Given the description of an element on the screen output the (x, y) to click on. 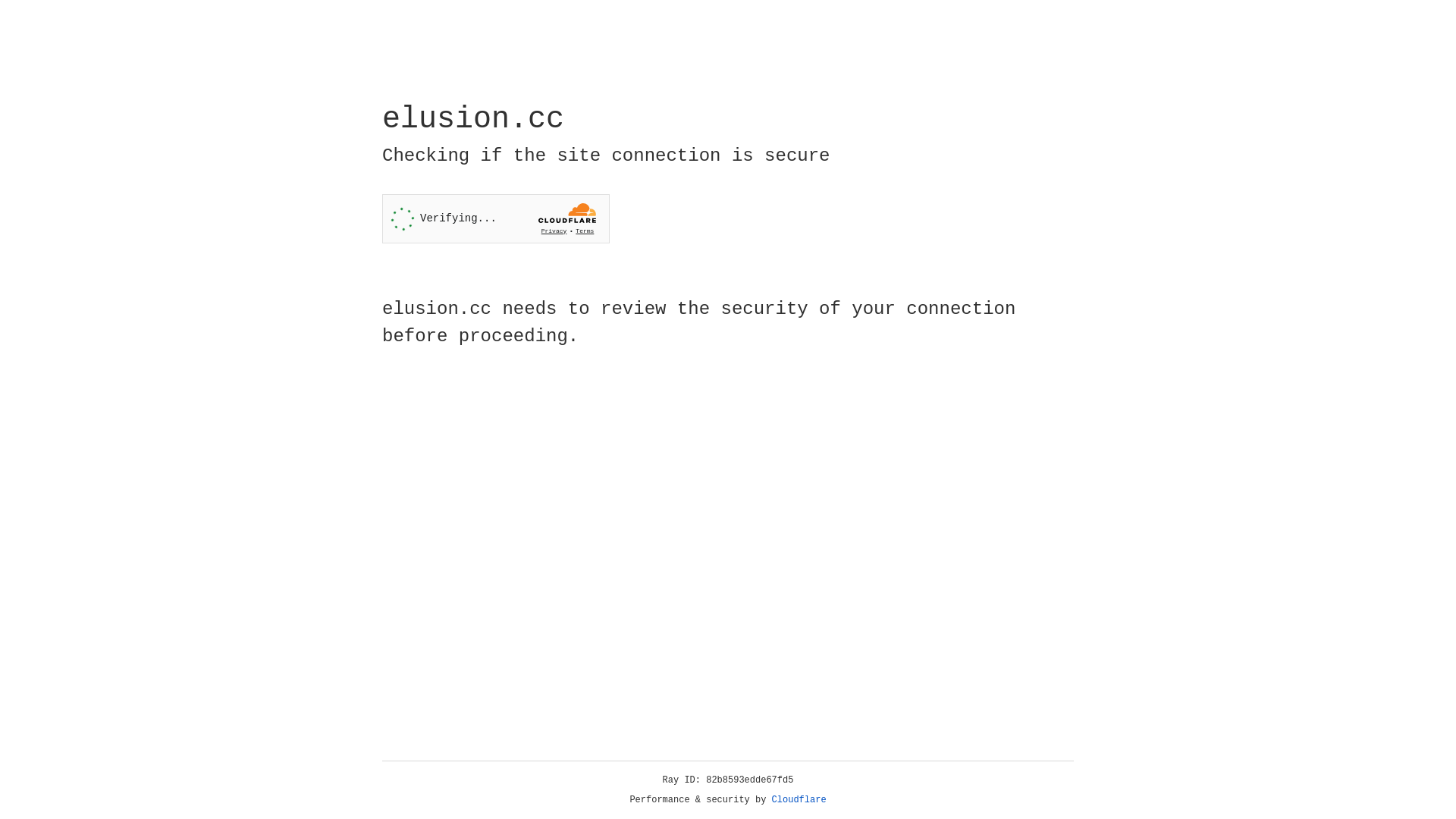
Cloudflare Element type: text (798, 799)
Widget containing a Cloudflare security challenge Element type: hover (495, 218)
